Given the description of an element on the screen output the (x, y) to click on. 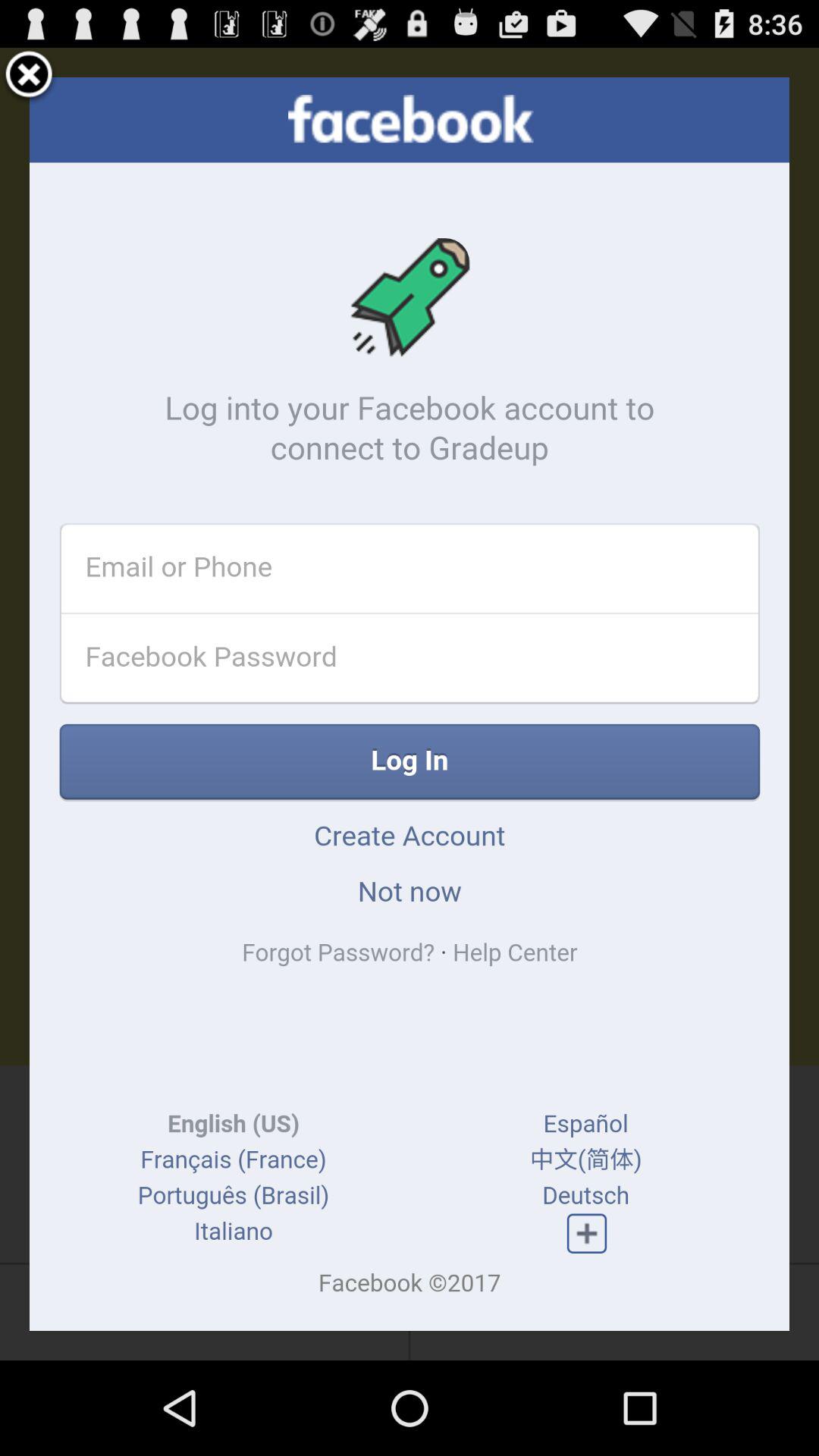
to go facebook (409, 703)
